Given the description of an element on the screen output the (x, y) to click on. 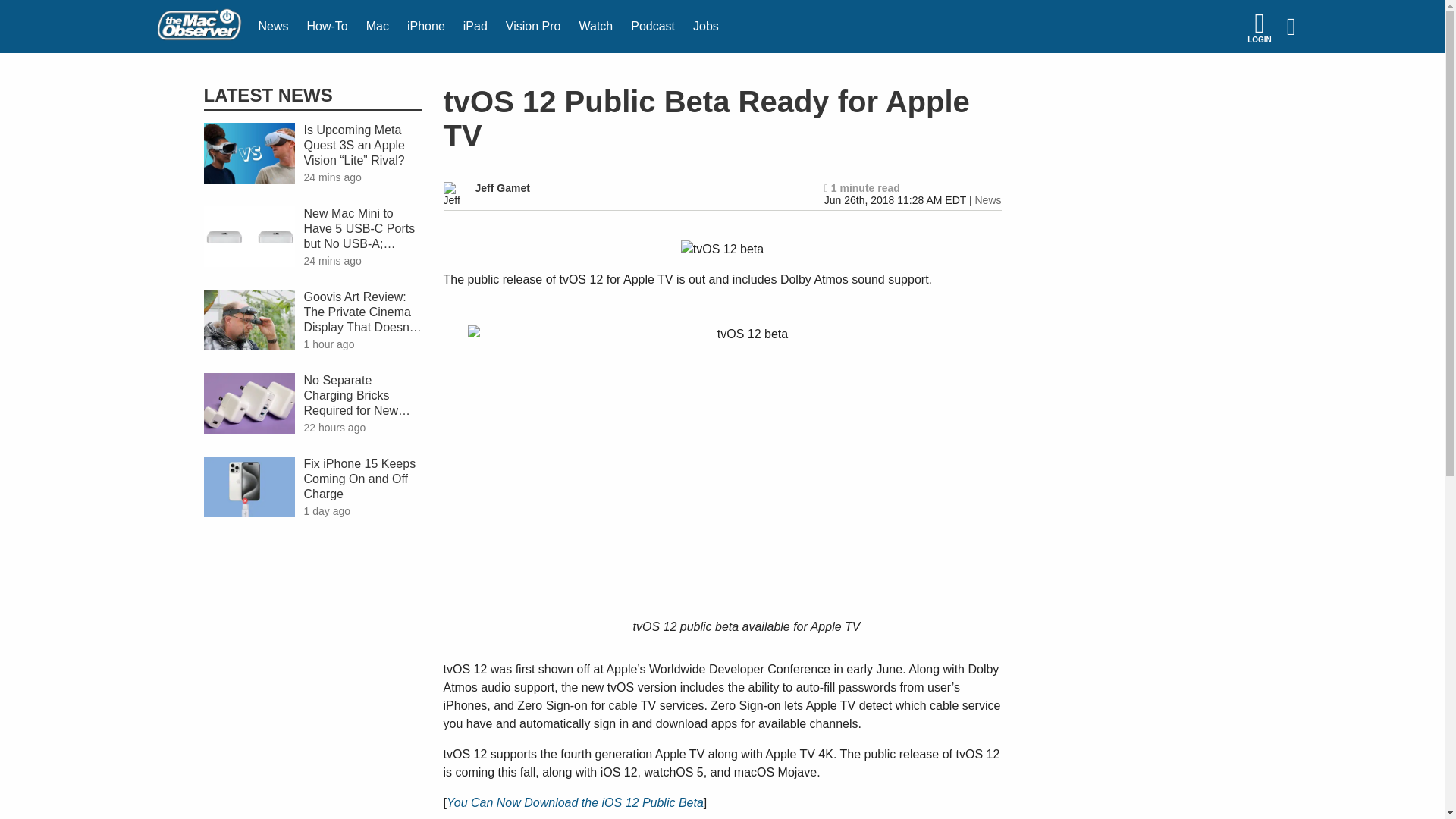
News (987, 200)
Watch (595, 26)
The Mac Observer (198, 26)
News (272, 26)
Vision Pro (533, 26)
How-To (327, 26)
News (272, 26)
Watch (595, 26)
Podcast (652, 26)
